Given the description of an element on the screen output the (x, y) to click on. 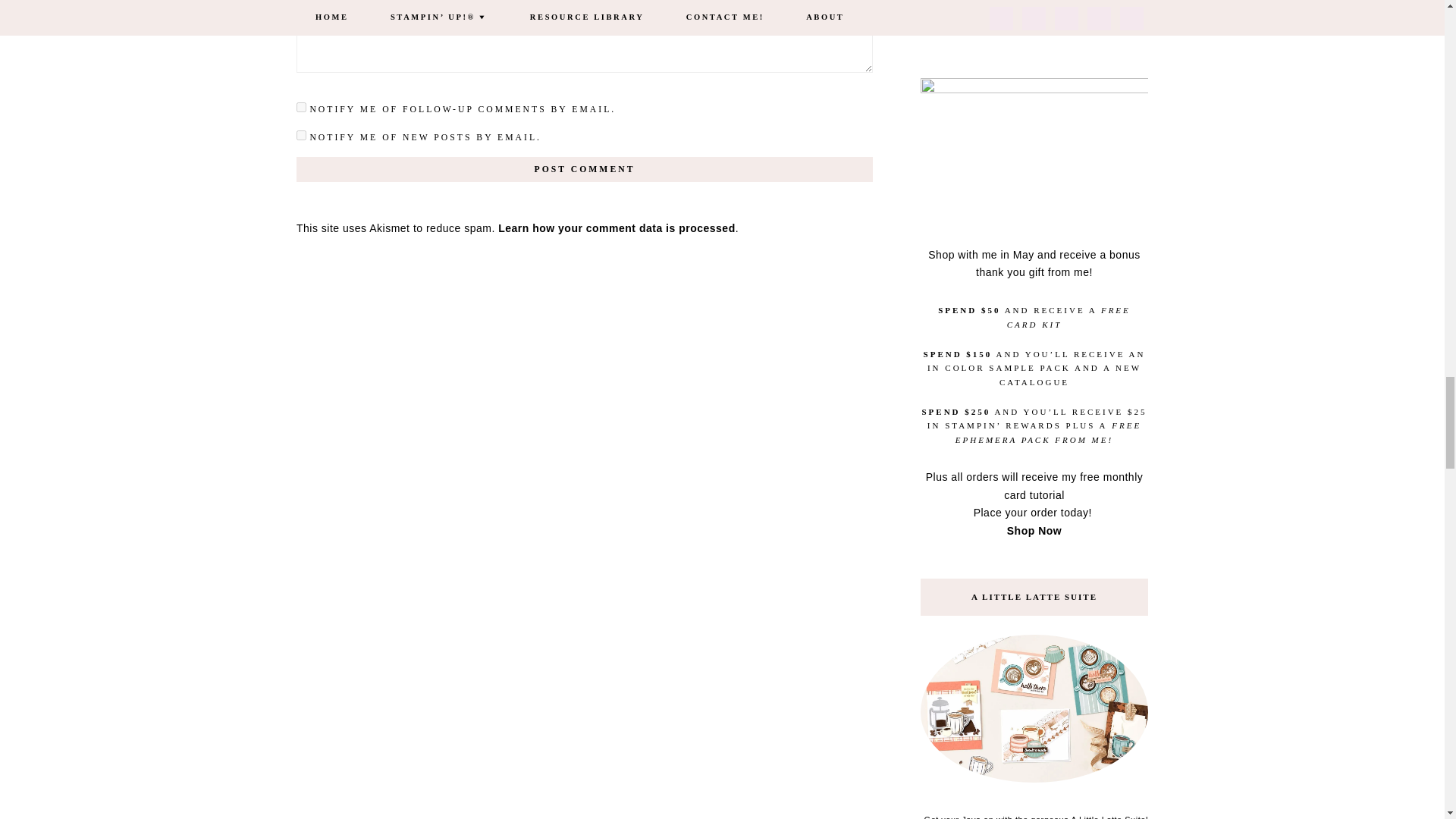
subscribe (301, 107)
Shop the Little Latte Suite today (1034, 712)
Post Comment (584, 169)
subscribe (301, 135)
